Given the description of an element on the screen output the (x, y) to click on. 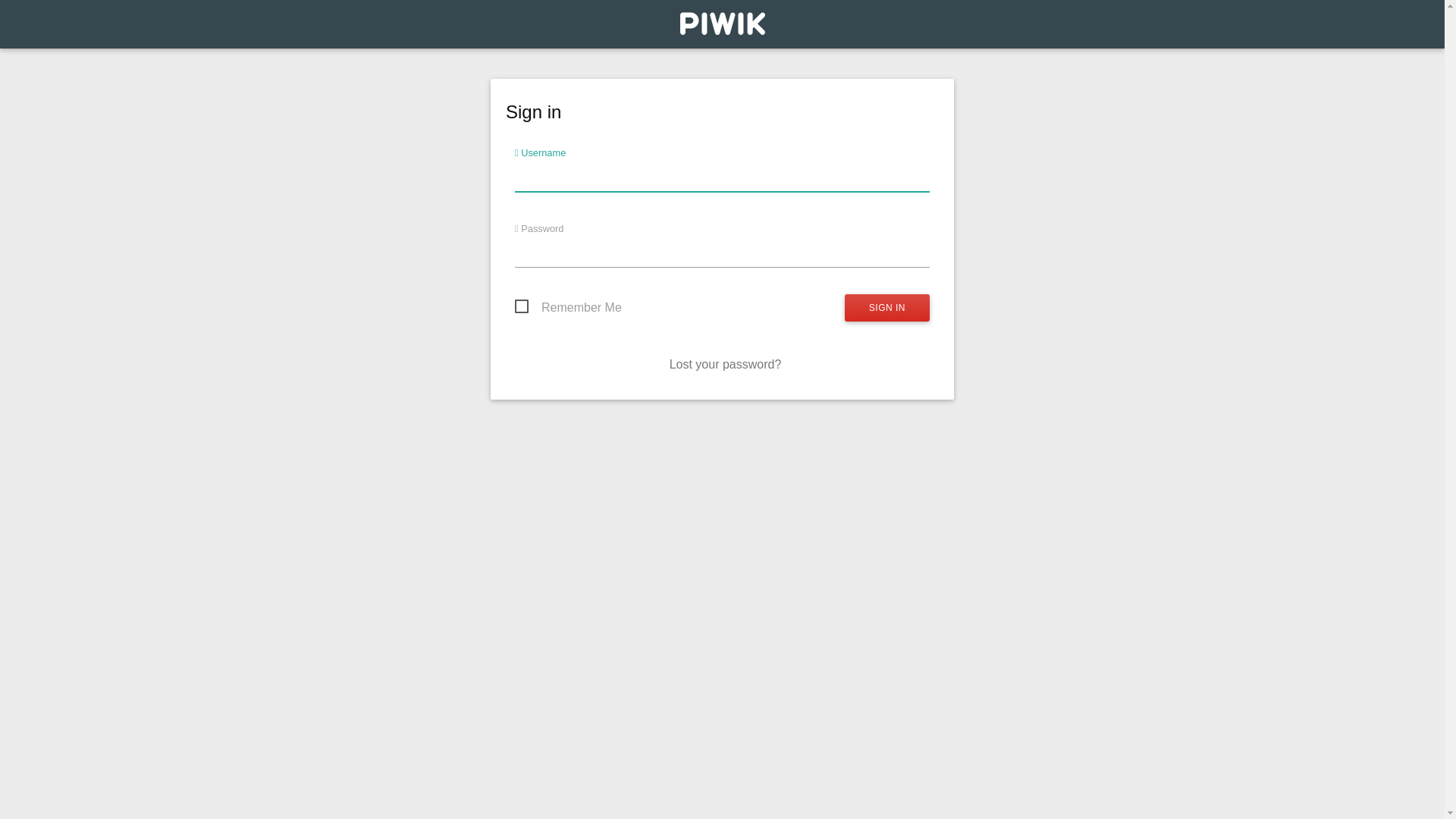
Sign in Element type: text (886, 307)
Web analytics Element type: hover (721, 27)
Lost your password? Element type: text (725, 363)
Web analytics Element type: hover (721, 23)
